Given the description of an element on the screen output the (x, y) to click on. 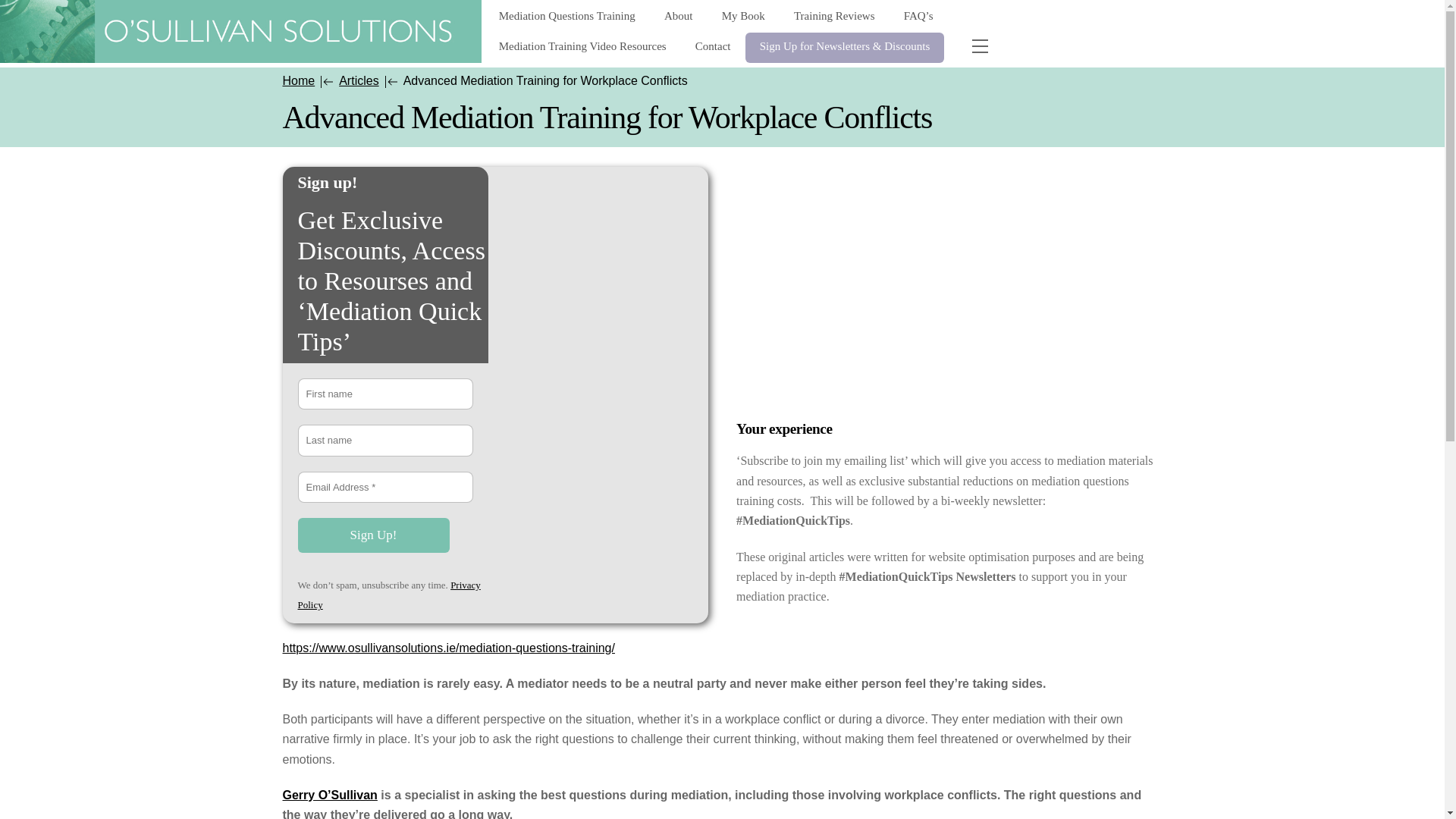
Mediation Training Video Resources (581, 47)
Email Address (385, 487)
Last name (385, 440)
Advanced Mediation Training for Workplace Conflicts (240, 31)
Sign Up! (372, 534)
My Book (742, 16)
First name (385, 394)
Mediation Questions Training (566, 16)
Training Reviews (833, 16)
Contact (712, 47)
About (677, 16)
Menu (978, 46)
